Given the description of an element on the screen output the (x, y) to click on. 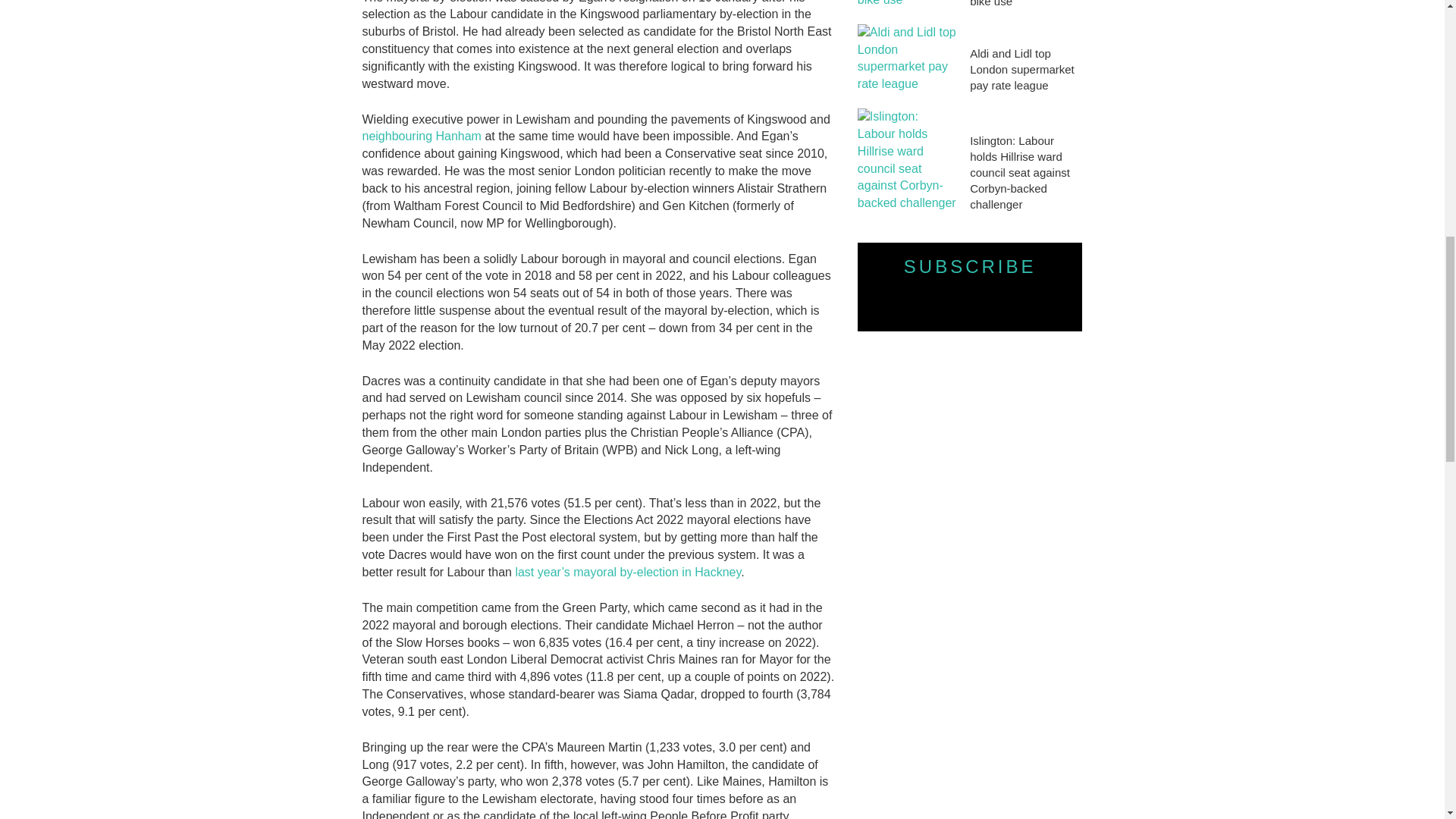
Aldi and Lidl top London supermarket pay rate league (1025, 69)
neighbouring Hanham (421, 135)
Aldi and Lidl top London supermarket pay rate league (907, 58)
